Given the description of an element on the screen output the (x, y) to click on. 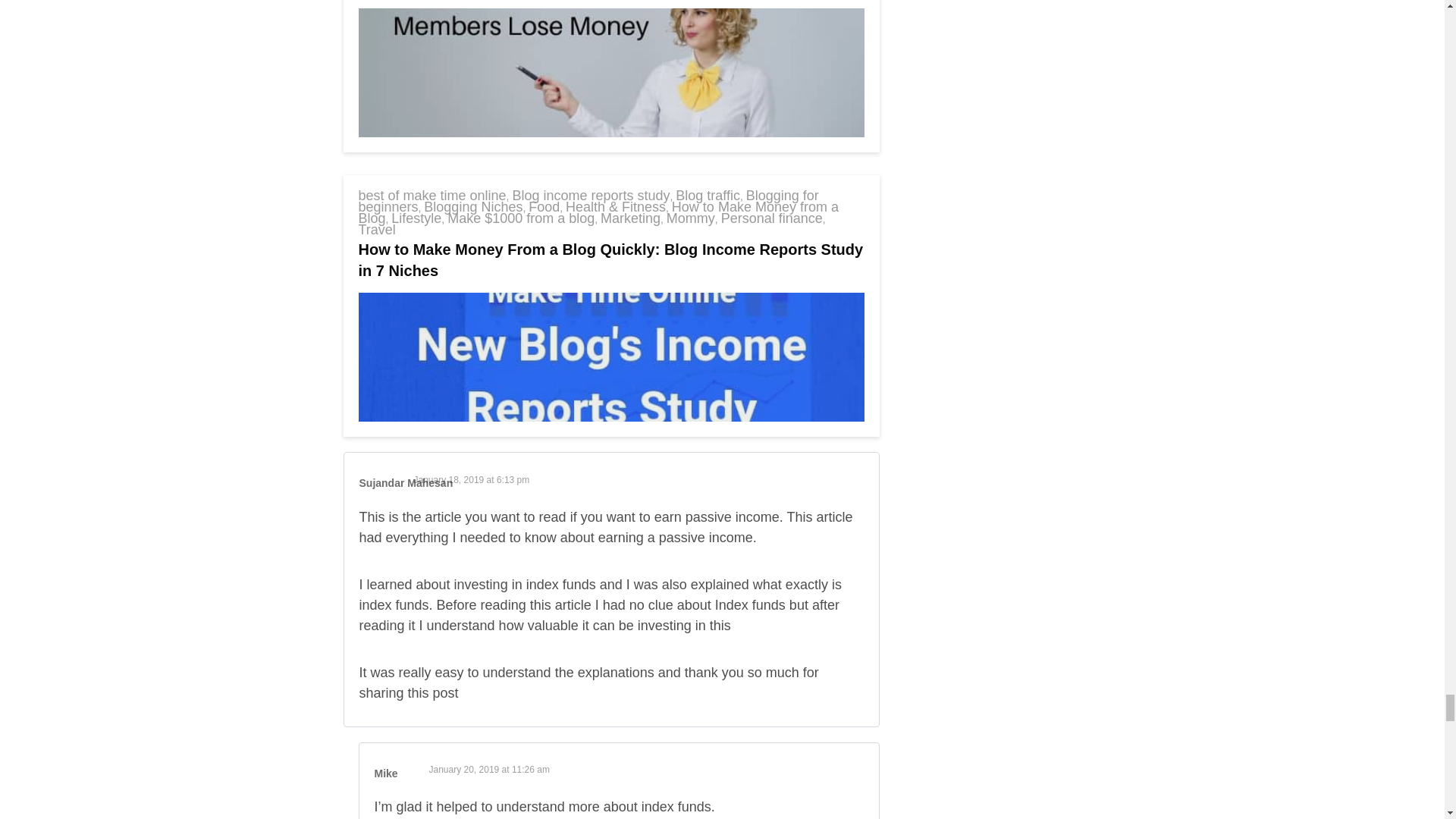
best of make time online (431, 195)
Blog traffic (707, 195)
Blogging Niches (472, 206)
Blogging for beginners (588, 201)
Blog income reports study (590, 195)
